Given the description of an element on the screen output the (x, y) to click on. 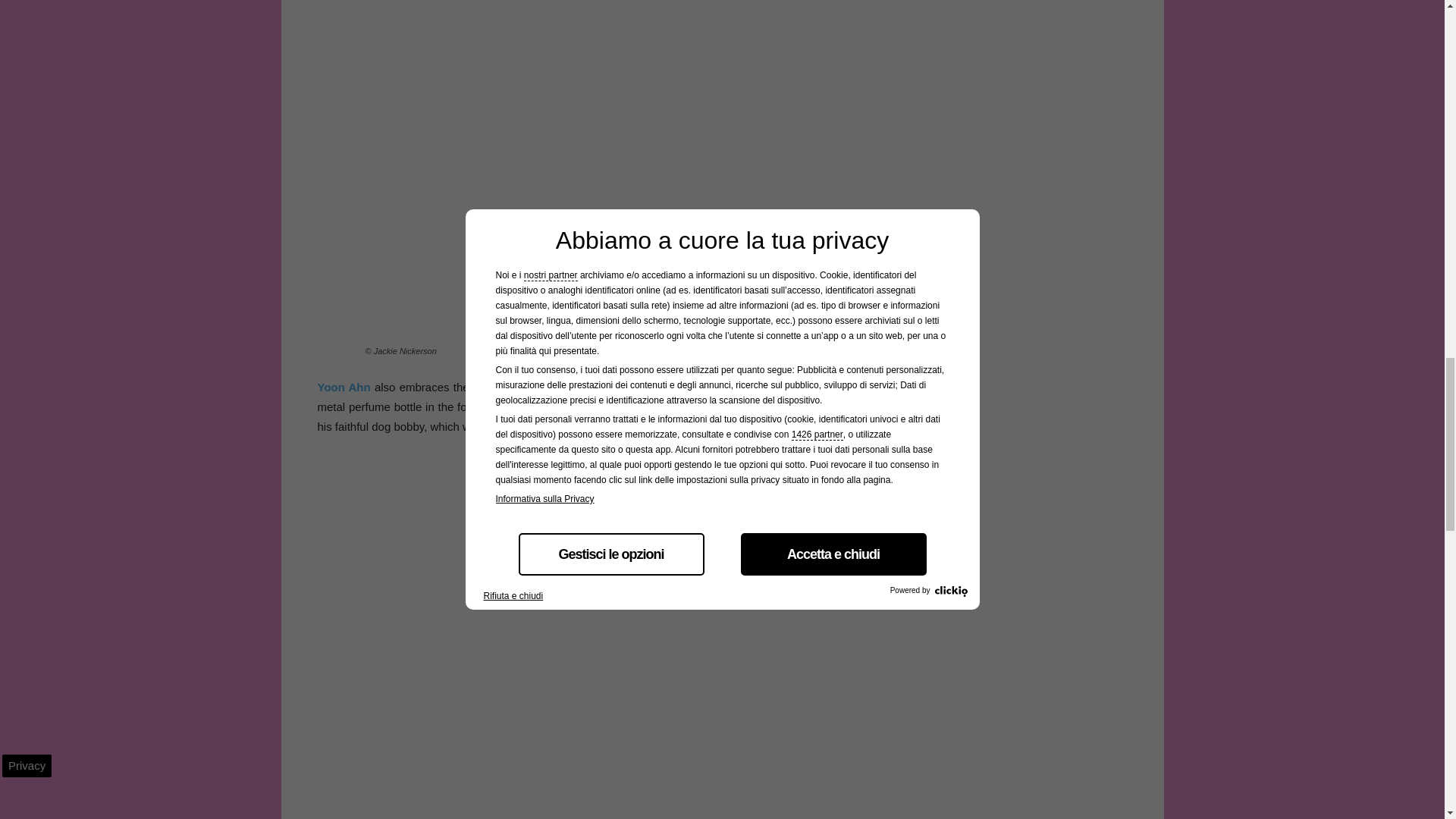
Yoon Ahn (343, 386)
